Given the description of an element on the screen output the (x, y) to click on. 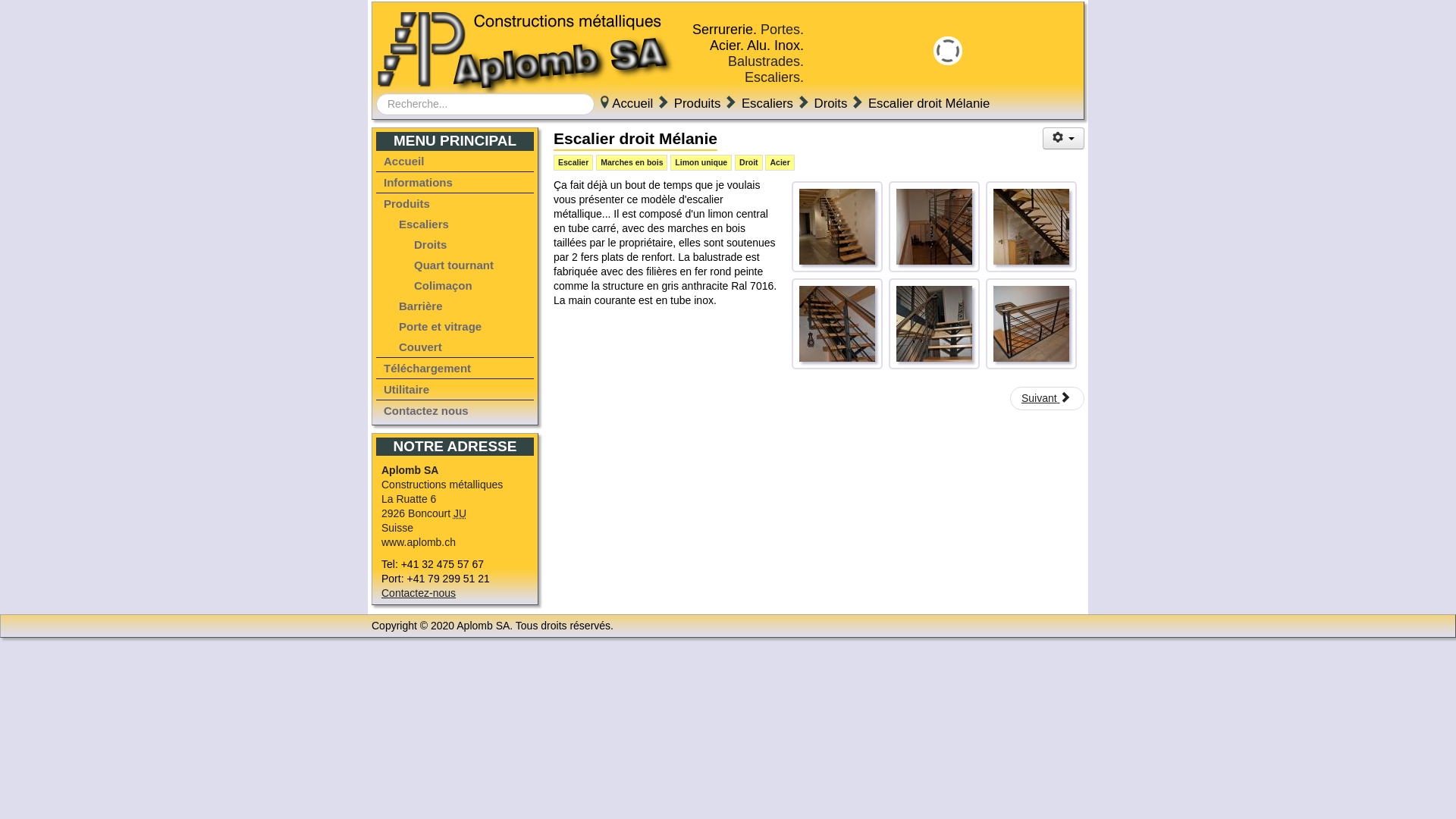
Quart tournant Element type: text (466, 264)
Balustrades. Element type: text (765, 61)
Droits Element type: text (466, 244)
Marches en bois Element type: text (631, 162)
Limon unique Element type: text (700, 162)
Escaliers Element type: text (767, 103)
www.aplomb.ch Element type: text (418, 542)
Droit Element type: text (748, 162)
Informations Element type: text (454, 182)
Escalier Element type: text (573, 162)
Escaliers. Element type: text (773, 76)
Couvert Element type: text (460, 346)
Accueil Element type: text (454, 160)
Contactez nous Element type: text (454, 410)
Porte et vitrage Element type: text (460, 326)
Produits Element type: text (454, 203)
Escaliers Element type: text (460, 223)
Suivant Element type: text (1047, 398)
Acier Element type: text (779, 162)
Utilitaire Element type: text (454, 389)
Produits Element type: text (697, 103)
Droits Element type: text (830, 103)
Contactez-nous Element type: text (418, 592)
Accueil Element type: text (631, 103)
Portes. Element type: text (781, 29)
